Given the description of an element on the screen output the (x, y) to click on. 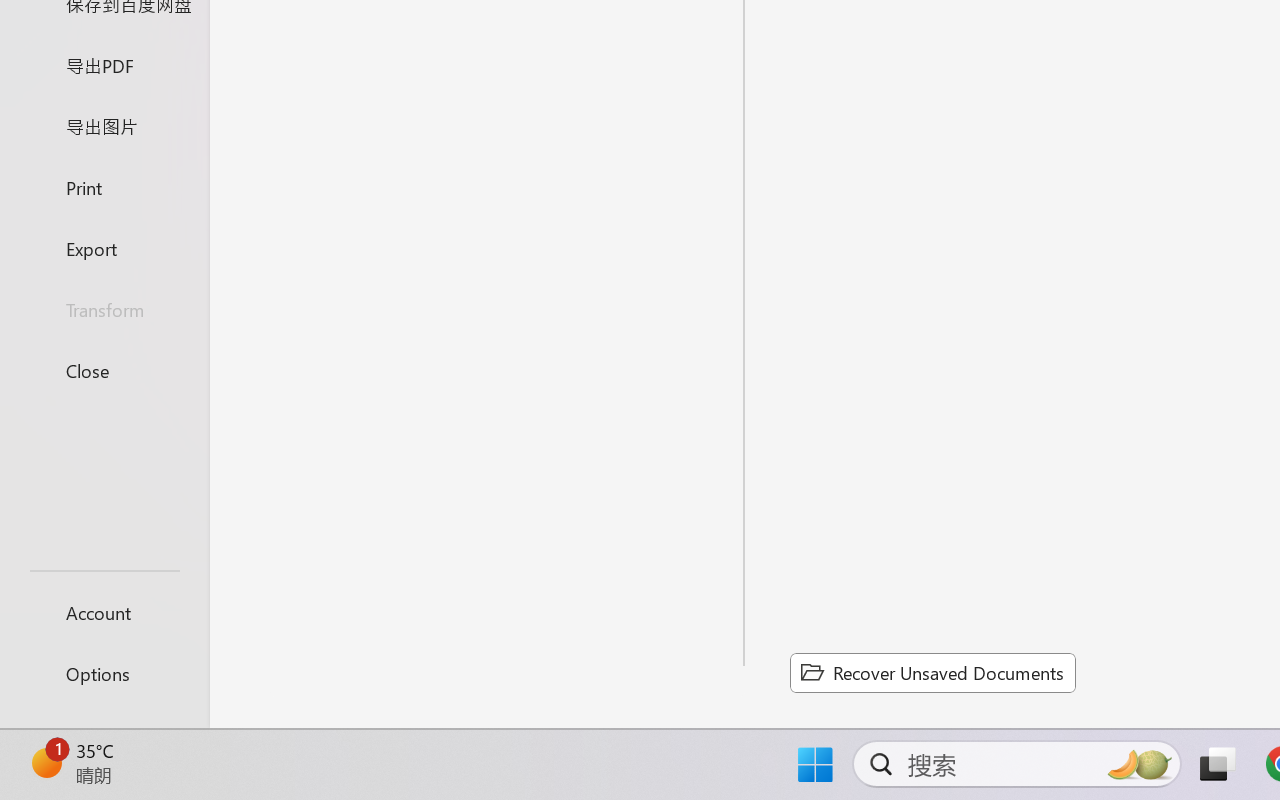
Options (104, 673)
Recover Unsaved Documents (932, 672)
Print (104, 186)
Transform (104, 309)
Export (104, 248)
Account (104, 612)
